Given the description of an element on the screen output the (x, y) to click on. 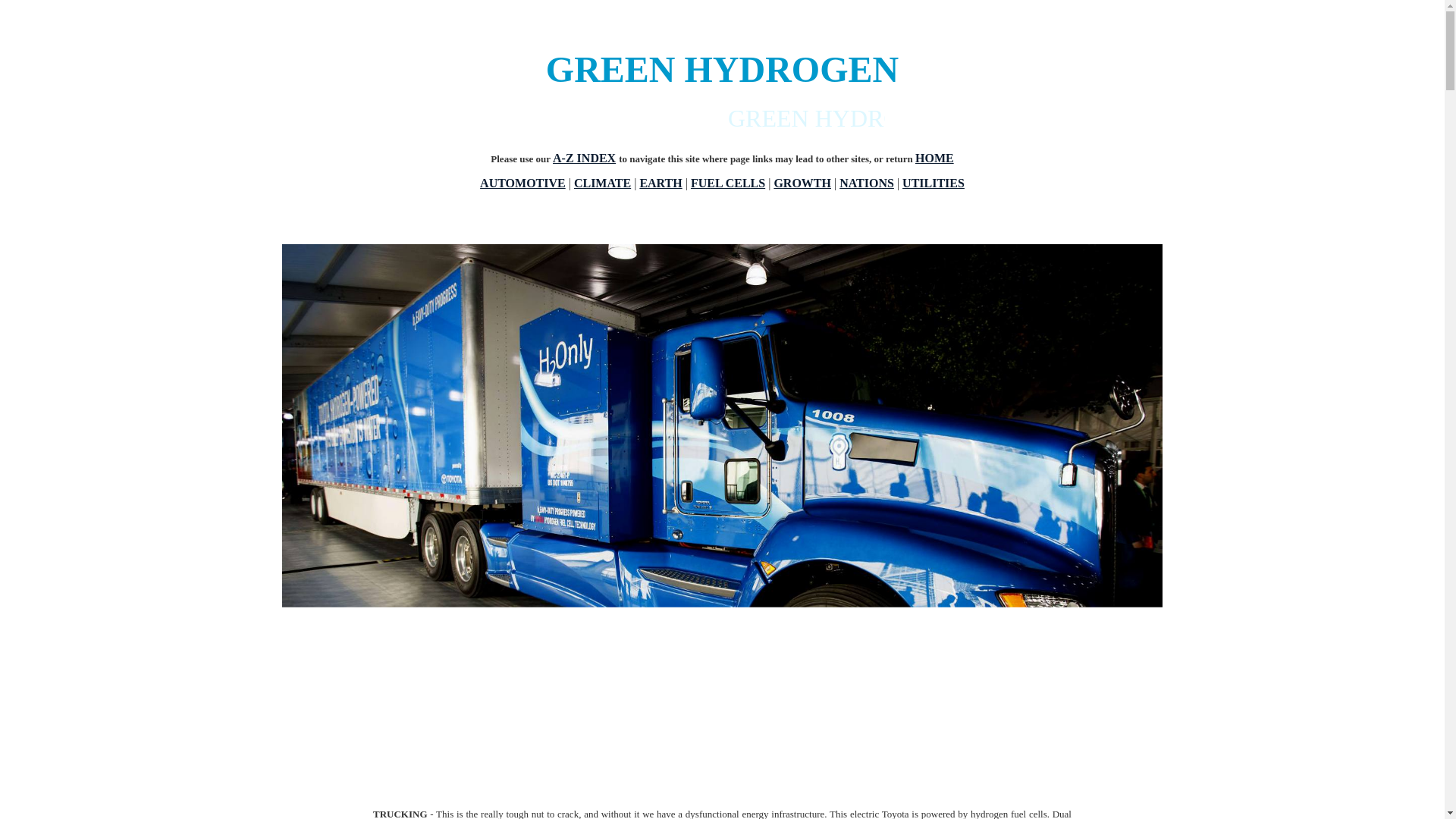
NATIONS (866, 182)
HOME (934, 157)
A-Z INDEX (584, 157)
EARTH (660, 182)
GROWTH (802, 182)
CLIMATE (601, 182)
FUEL CELLS (727, 182)
UTILITIES (932, 182)
AUTOMOTIVE (523, 182)
